Given the description of an element on the screen output the (x, y) to click on. 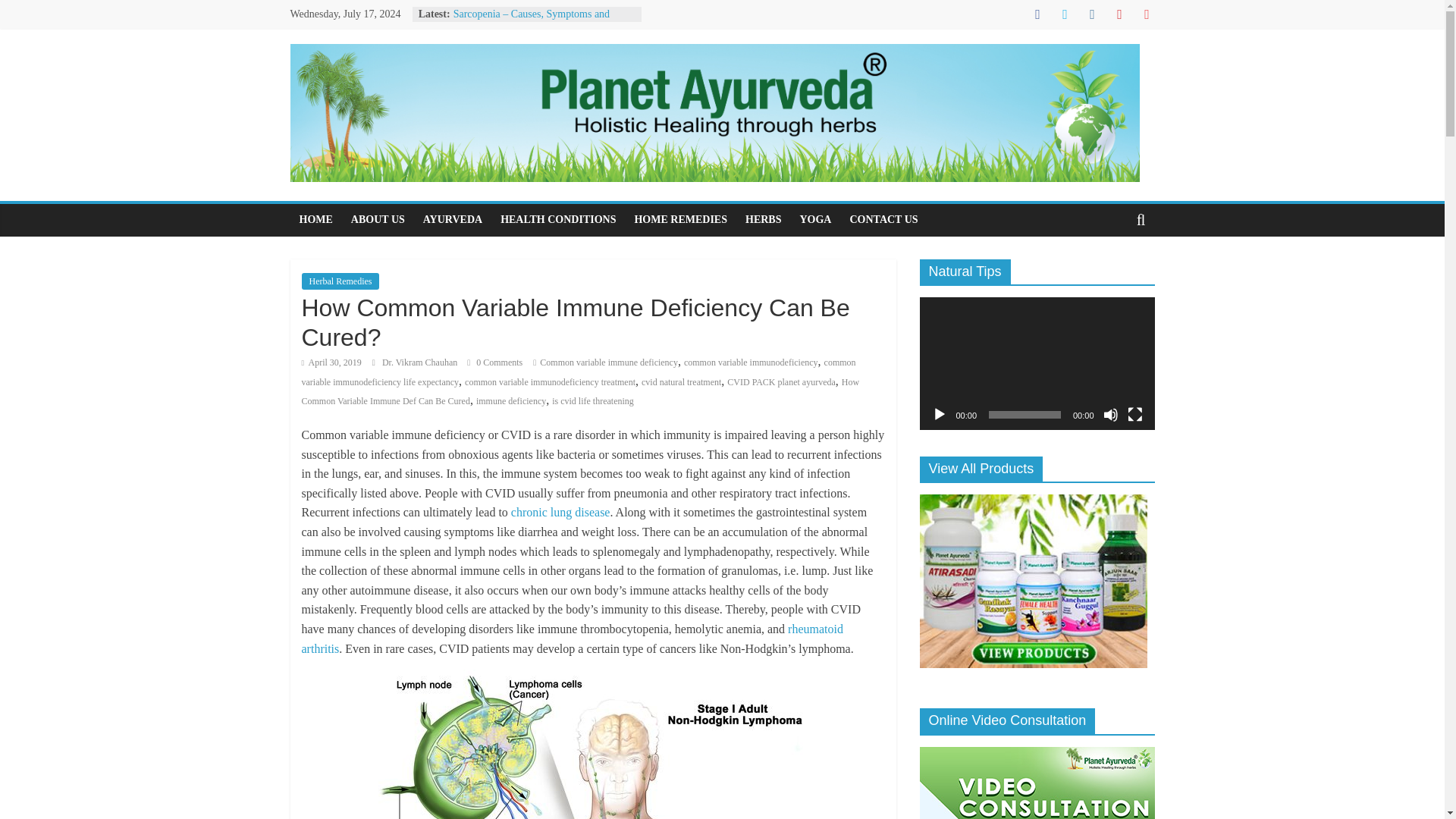
How Common Variable Immune Def Can Be Cured (580, 391)
HOME REMEDIES (680, 219)
HERBS (763, 219)
is cvid life threatening (592, 400)
cvid natural treatment (681, 381)
HOME (314, 219)
common variable immunodeficiency life expectancy (578, 372)
Dr. Vikram Chauhan (420, 362)
chronic lung disease (560, 512)
common variable immunodeficiency treatment (549, 381)
AYURVEDA (452, 219)
CONTACT US (883, 219)
CVID PACK planet ayurveda (780, 381)
Herbal Remedies (340, 280)
5:57 am (331, 362)
